Given the description of an element on the screen output the (x, y) to click on. 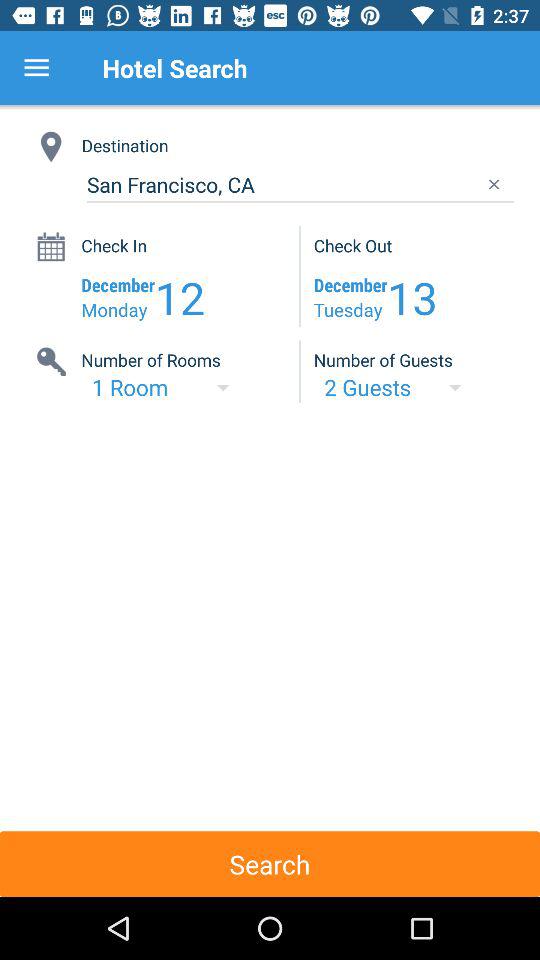
tap the item to the left of the hotel search item (36, 68)
